Given the description of an element on the screen output the (x, y) to click on. 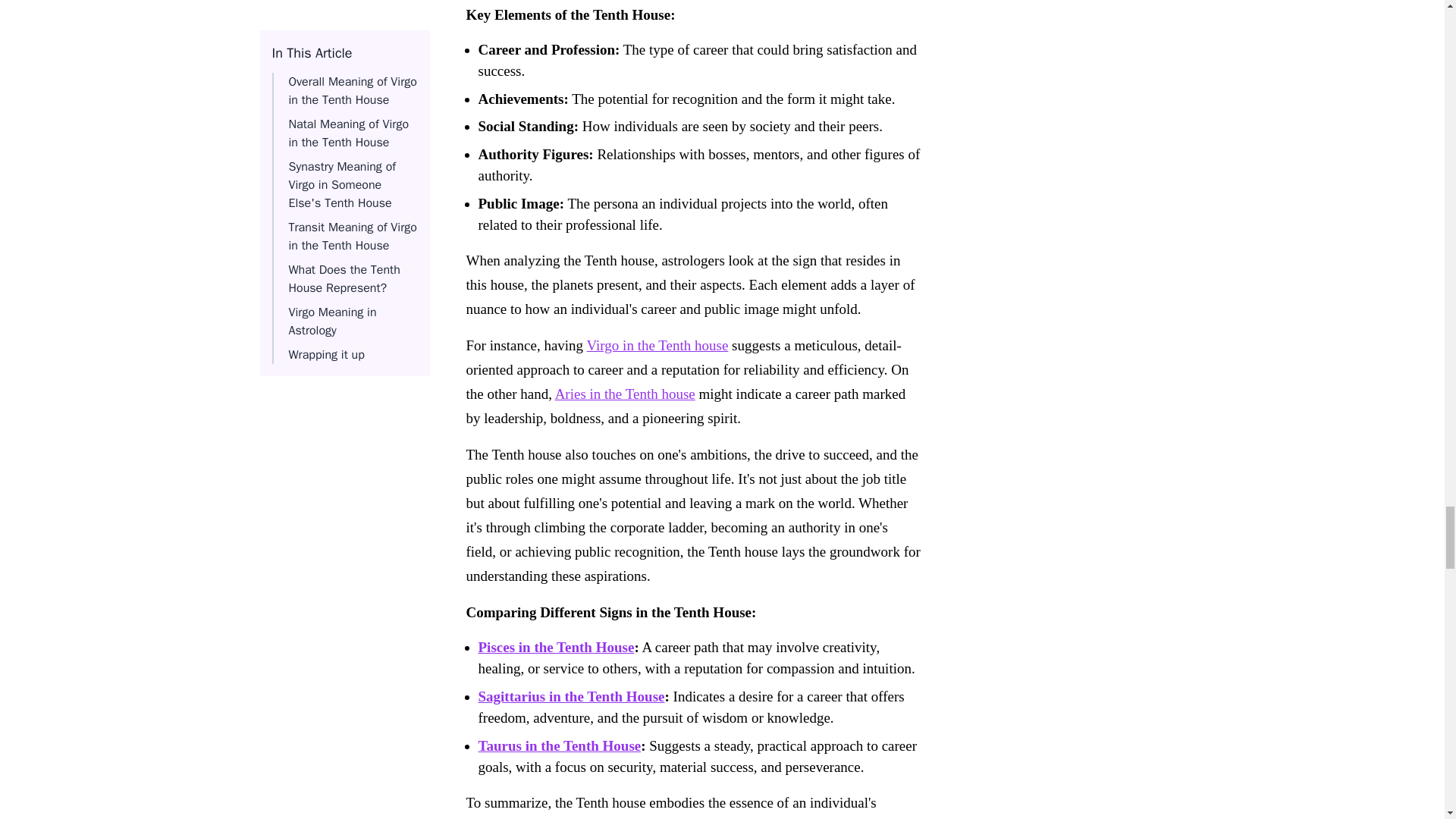
Aries in the Tenth house (624, 392)
Taurus in the Tenth House (558, 744)
Pisces in the Tenth House (555, 646)
Sagittarius in the Tenth House (570, 696)
Virgo in the Tenth house (657, 344)
